Given the description of an element on the screen output the (x, y) to click on. 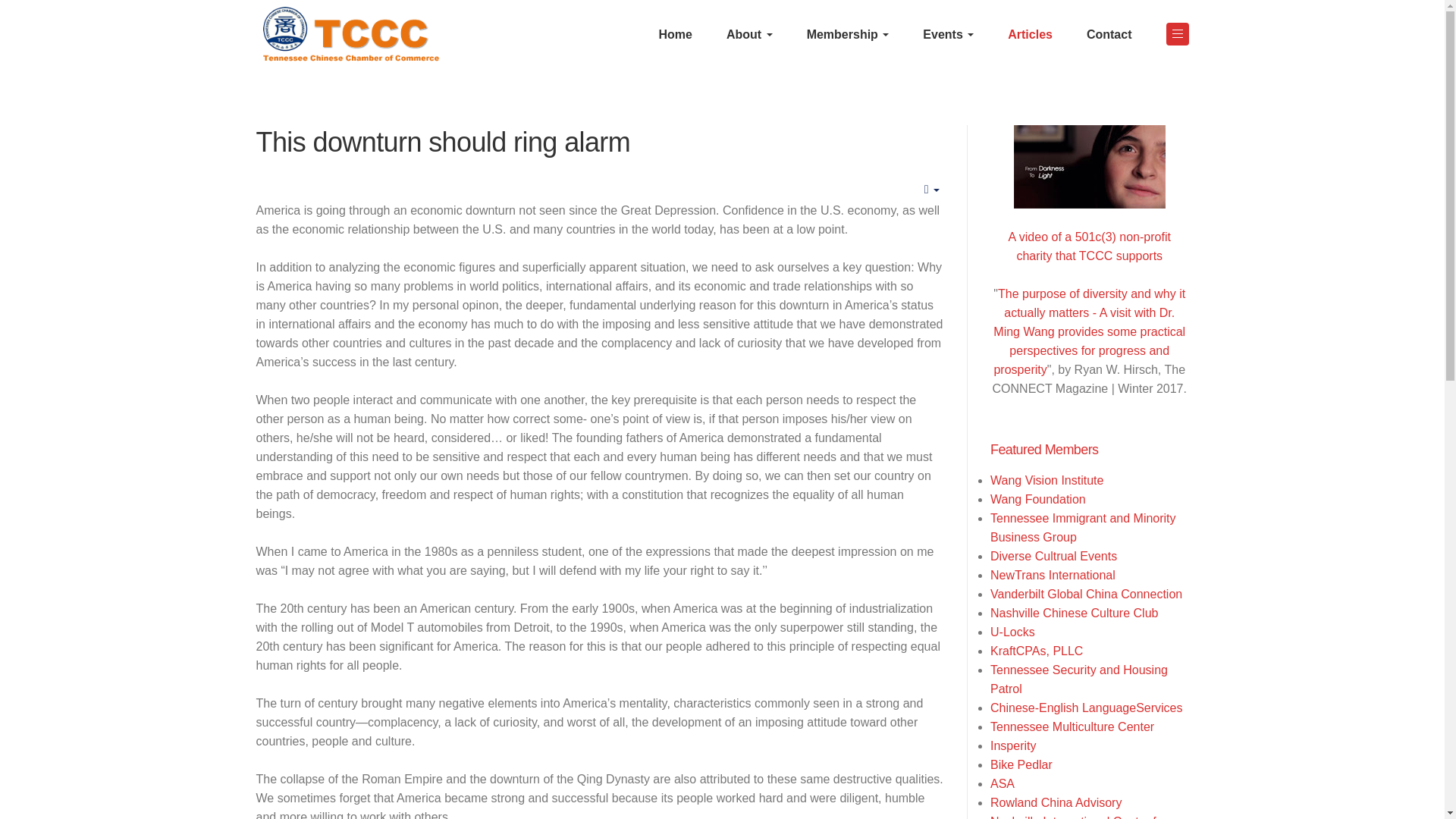
Events (954, 33)
Tennessee Chinese Chamber of Commerce (350, 34)
Membership (853, 33)
This downturn should ring alarm (443, 142)
